Given the description of an element on the screen output the (x, y) to click on. 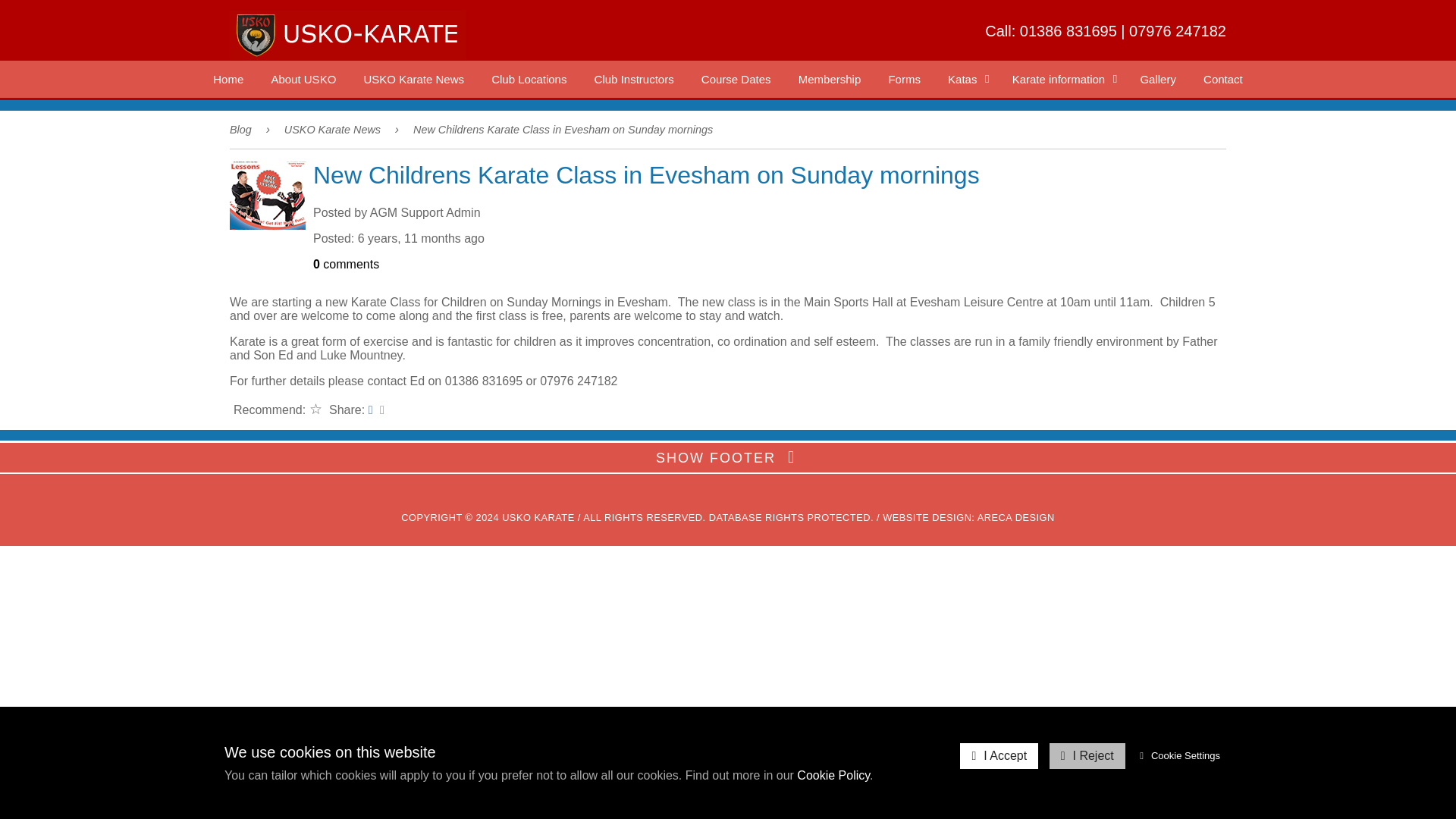
Karate information (1062, 78)
About USKO (303, 78)
01386 831695 (1068, 30)
07976 247182 (1177, 30)
Forms (904, 78)
Katas (965, 78)
USKO Karate News (413, 78)
About USKO (303, 78)
Course Dates (735, 78)
Club Instructors (633, 78)
